Given the description of an element on the screen output the (x, y) to click on. 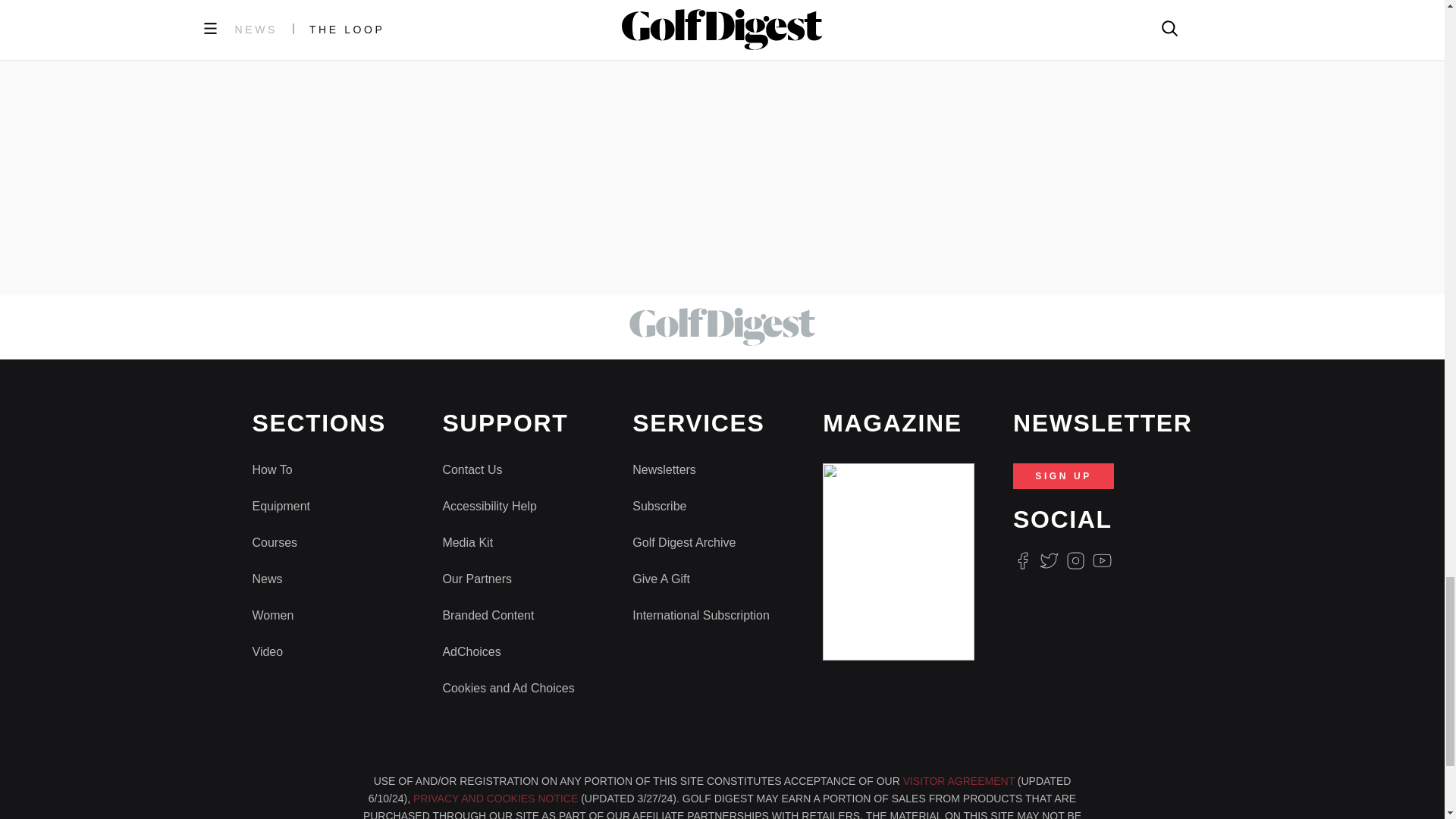
Instagram Logo (1074, 560)
Twitter Logo (1048, 560)
Youtube Icon (1102, 560)
Facebook Logo (1022, 560)
